Given the description of an element on the screen output the (x, y) to click on. 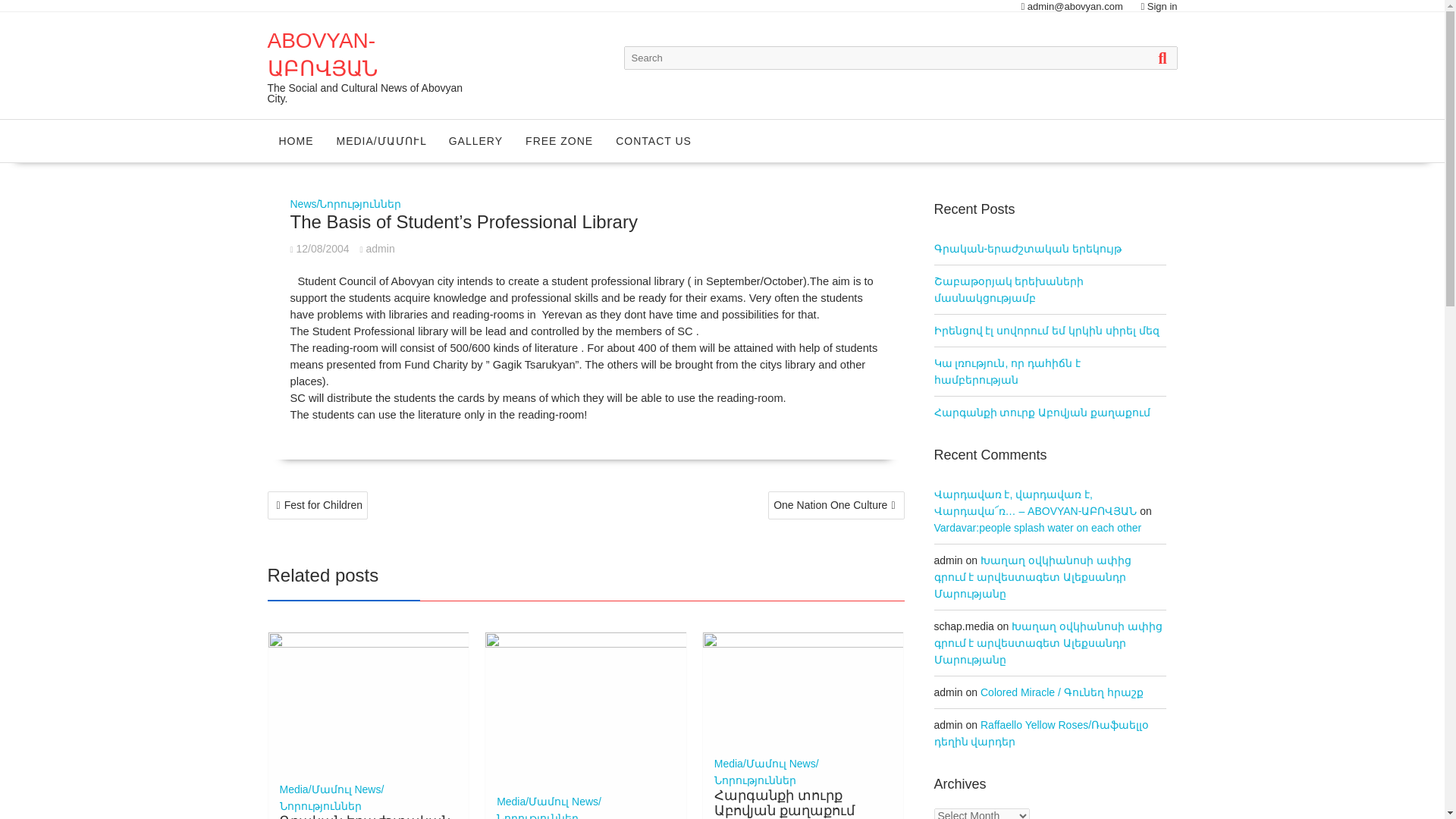
Fest for Children (317, 505)
One Nation One Culture (836, 505)
Sign in (1162, 6)
CONTACT US (653, 140)
FREE ZONE (558, 140)
admin (376, 248)
HOME (295, 140)
GALLERY (475, 140)
